Given the description of an element on the screen output the (x, y) to click on. 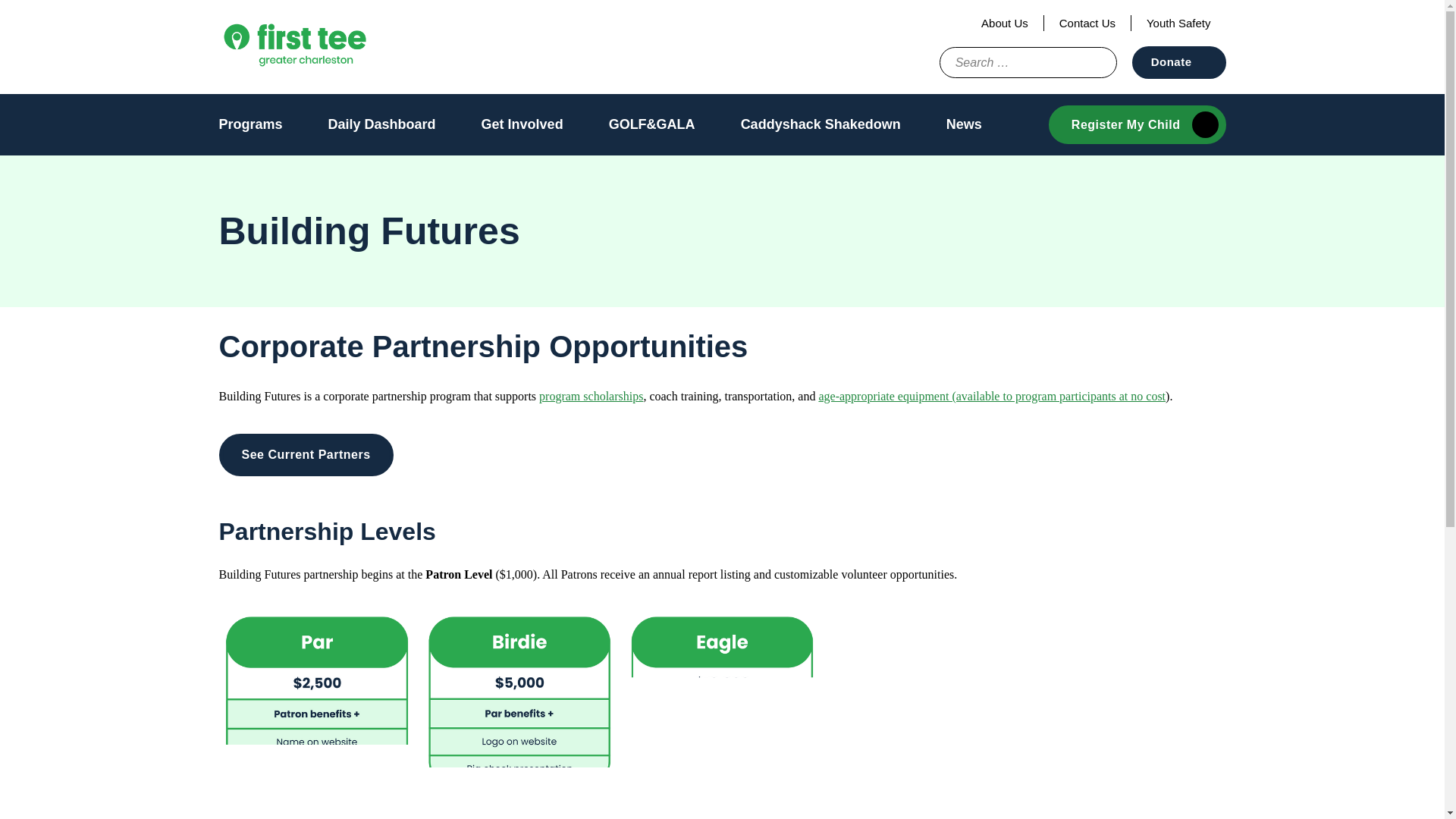
News (963, 124)
Search (1080, 61)
Caddyshack Shakedown (821, 124)
Get Involved (522, 124)
program scholarships (590, 395)
Search (1080, 61)
Contact Us (1087, 23)
About Us (1004, 23)
Donate (1178, 61)
Register My Child (1136, 123)
